Given the description of an element on the screen output the (x, y) to click on. 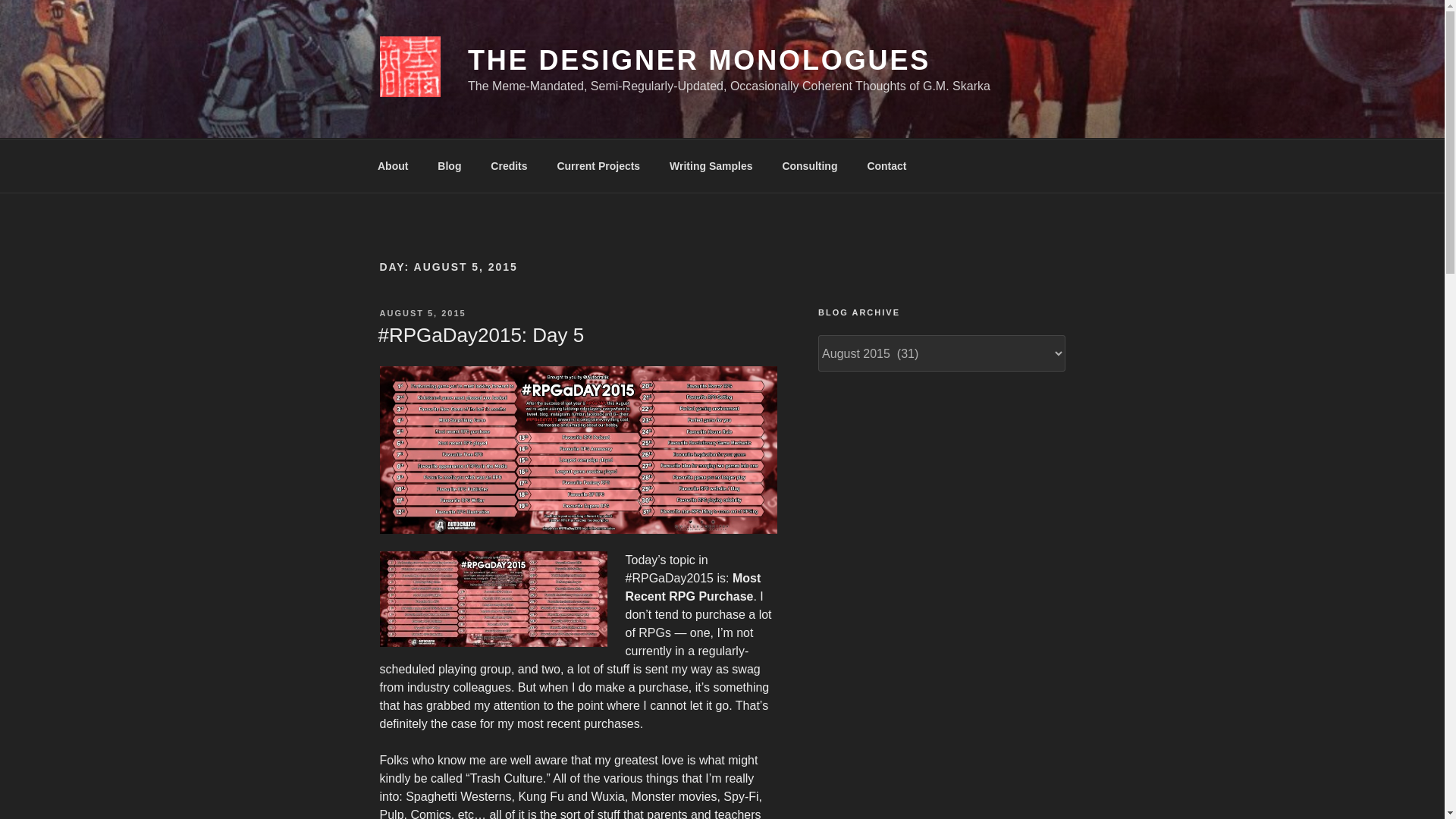
Credits (508, 165)
Consulting (809, 165)
Current Projects (598, 165)
Blog (449, 165)
Writing Samples (710, 165)
THE DESIGNER MONOLOGUES (698, 60)
About (392, 165)
AUGUST 5, 2015 (421, 312)
Contact (886, 165)
